Given the description of an element on the screen output the (x, y) to click on. 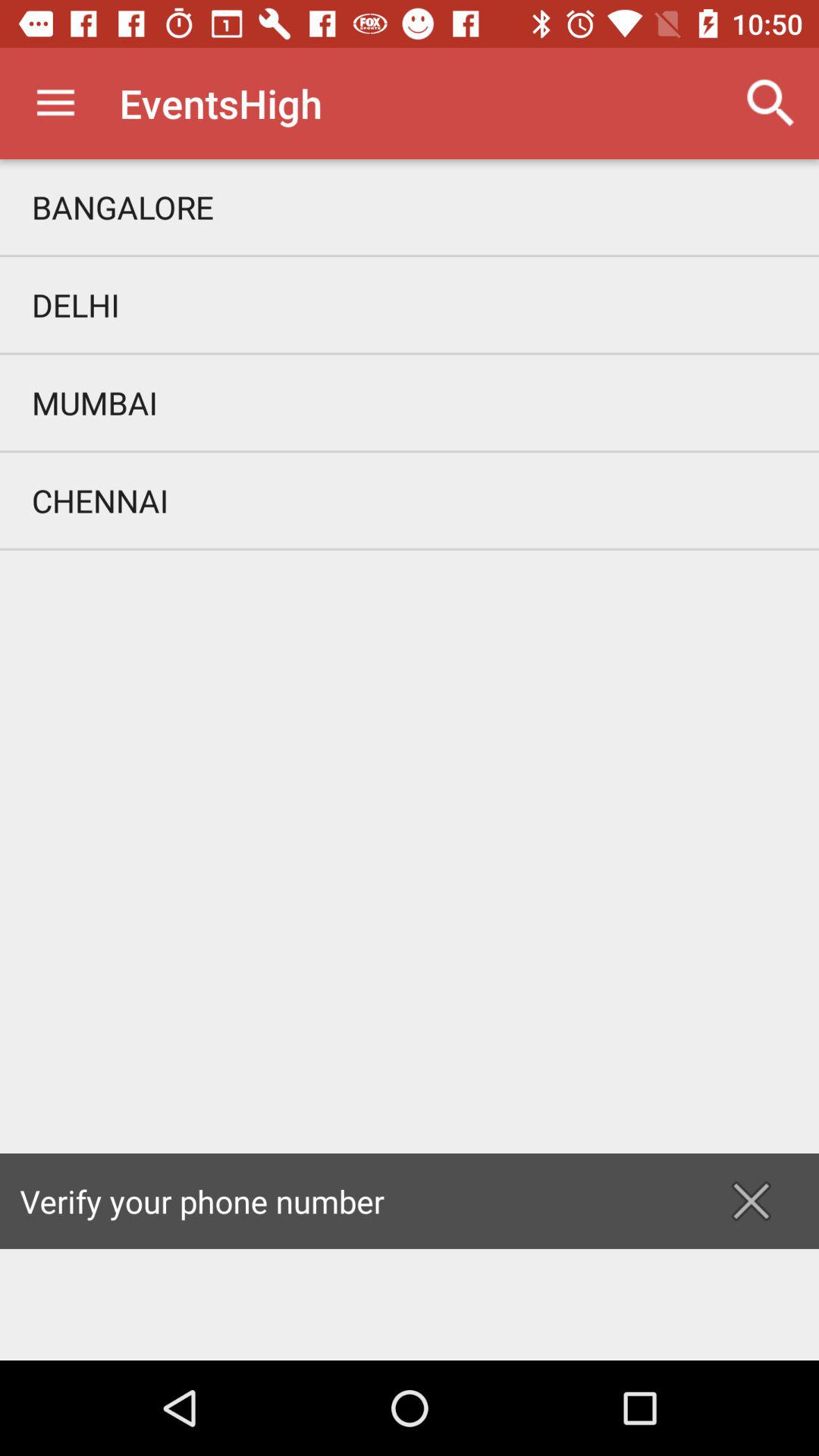
launch mumbai icon (409, 402)
